Given the description of an element on the screen output the (x, y) to click on. 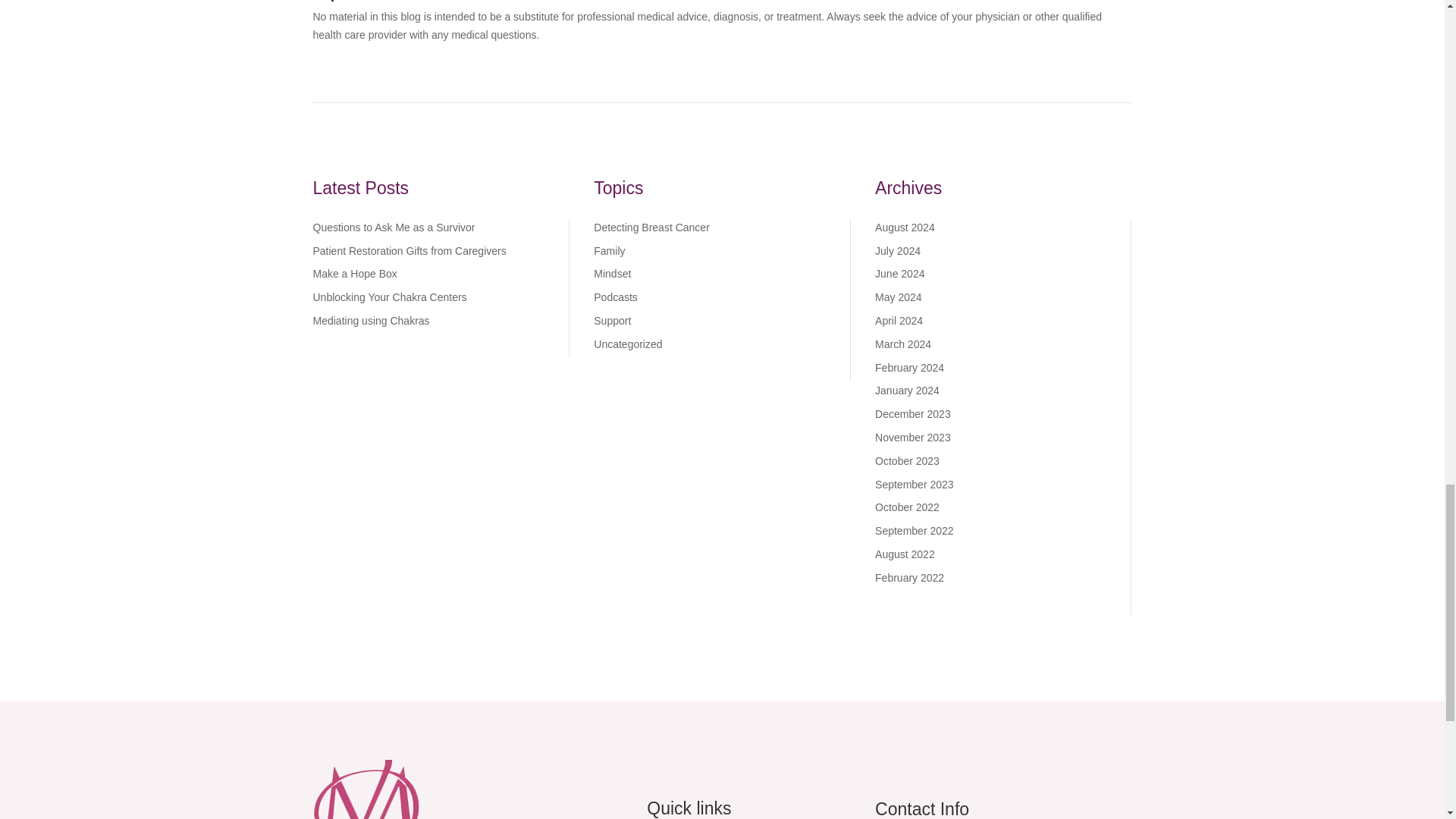
Questions to Ask Me as a Survivor (393, 227)
Patient Restoration Gifts from Caregivers (409, 250)
warriora (368, 789)
Make a Hope Box (354, 273)
